Given the description of an element on the screen output the (x, y) to click on. 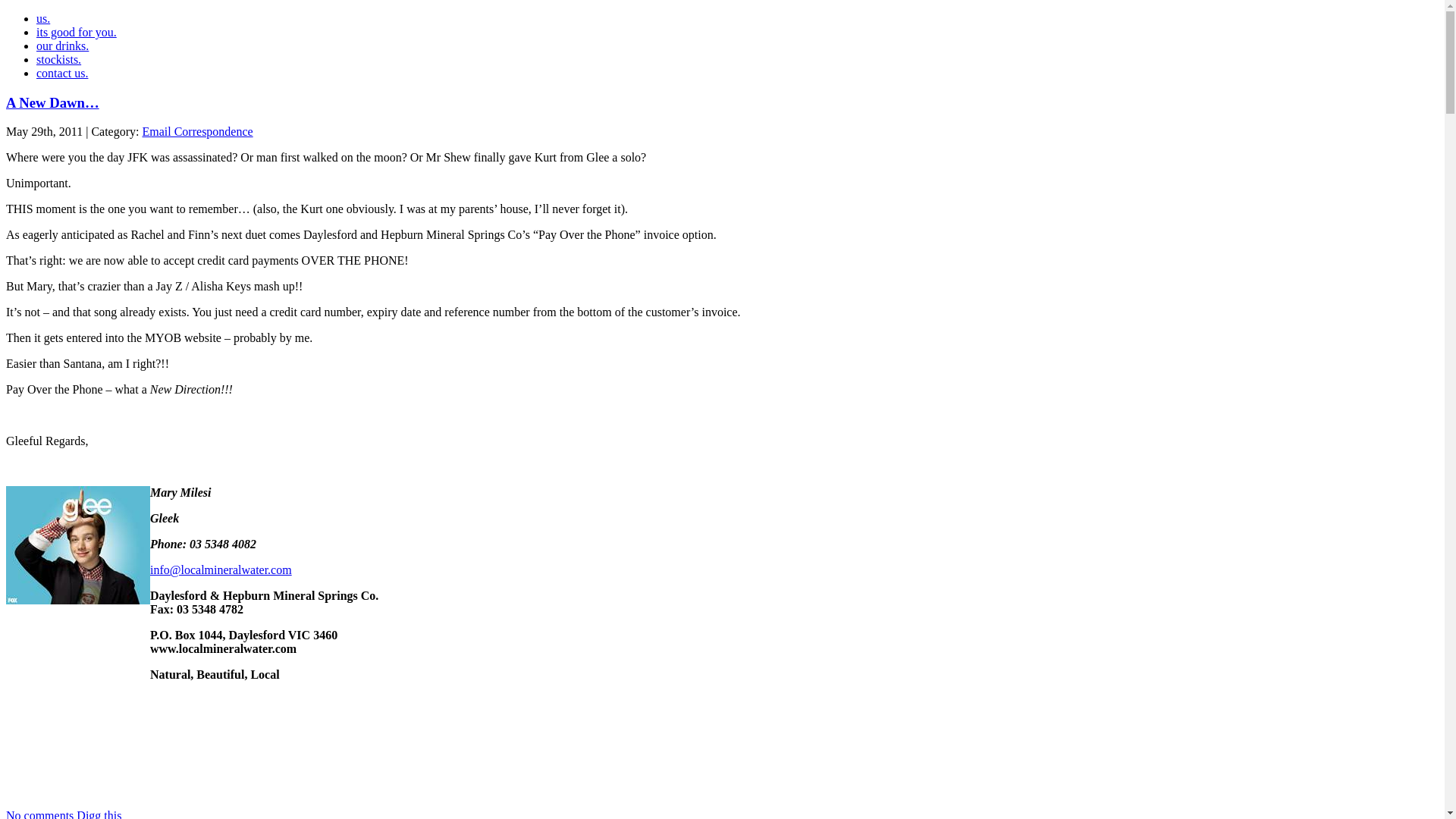
us. Element type: text (43, 18)
stockists. Element type: text (58, 59)
our drinks. Element type: text (62, 45)
info@localmineralwater.com Element type: text (220, 569)
Email Correspondence Element type: text (196, 131)
contact us. Element type: text (61, 72)
its good for you. Element type: text (76, 31)
GLEE Element type: hover (78, 545)
